Given the description of an element on the screen output the (x, y) to click on. 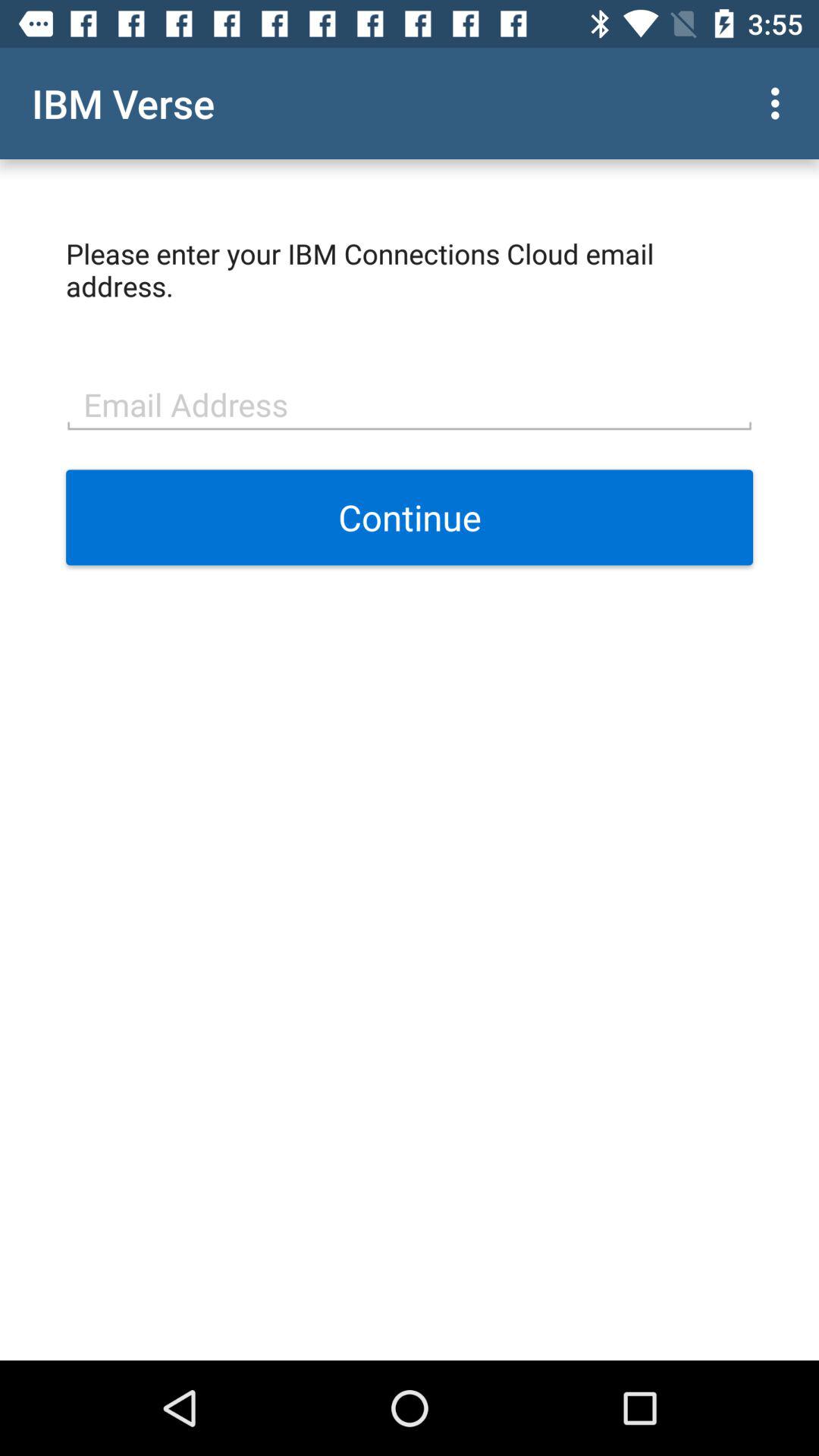
launch the continue (409, 517)
